Given the description of an element on the screen output the (x, y) to click on. 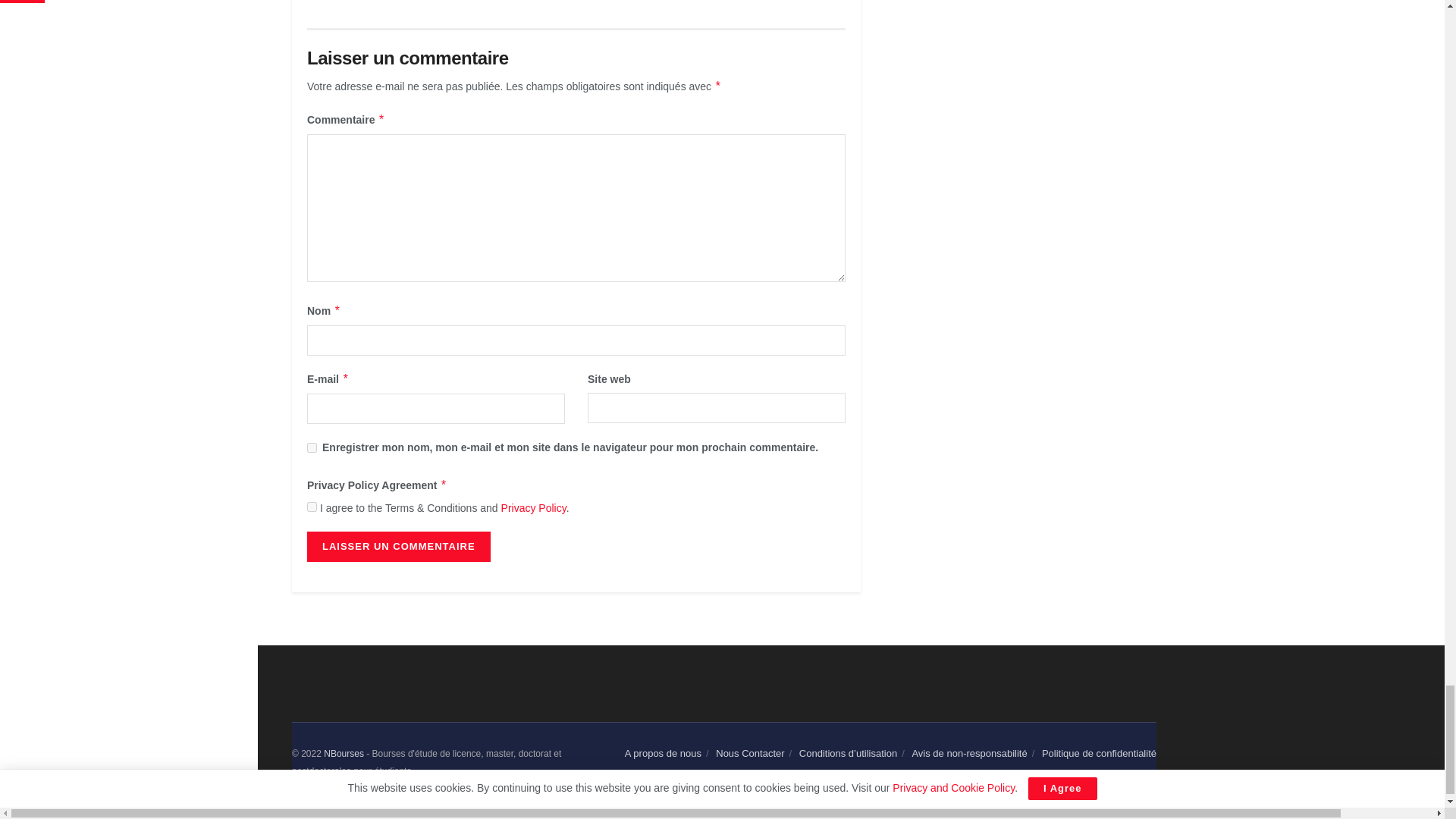
yes (312, 447)
on (312, 506)
Laisser un commentaire (398, 546)
Nouvelles Bourses (343, 753)
